Given the description of an element on the screen output the (x, y) to click on. 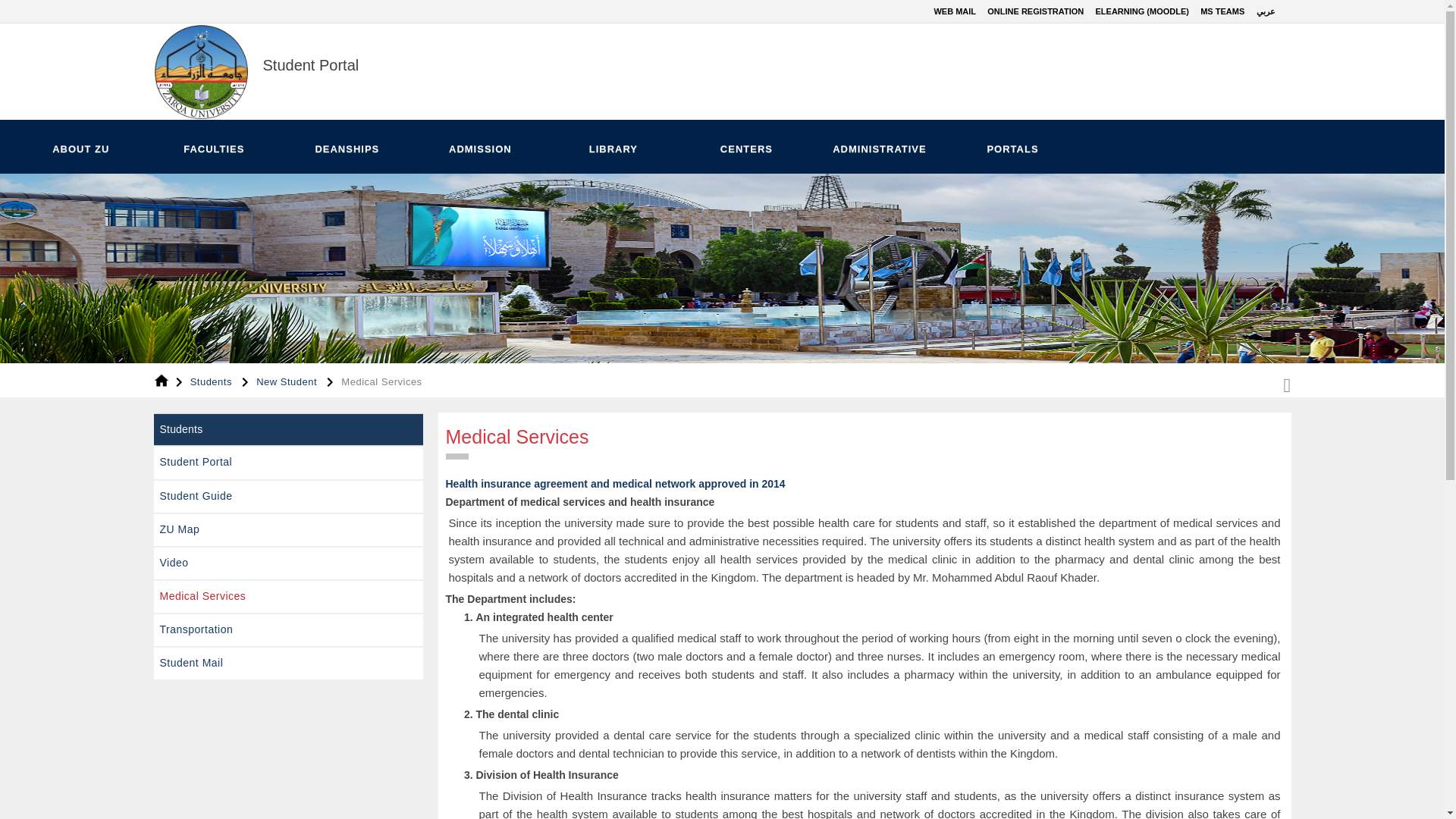
WEB MAIL (954, 10)
MS TEAMS (1221, 10)
FACULTIES (212, 147)
ABOUT ZU (78, 147)
DEANSHIPS (345, 147)
ONLINE REGISTRATION (1035, 10)
